Given the description of an element on the screen output the (x, y) to click on. 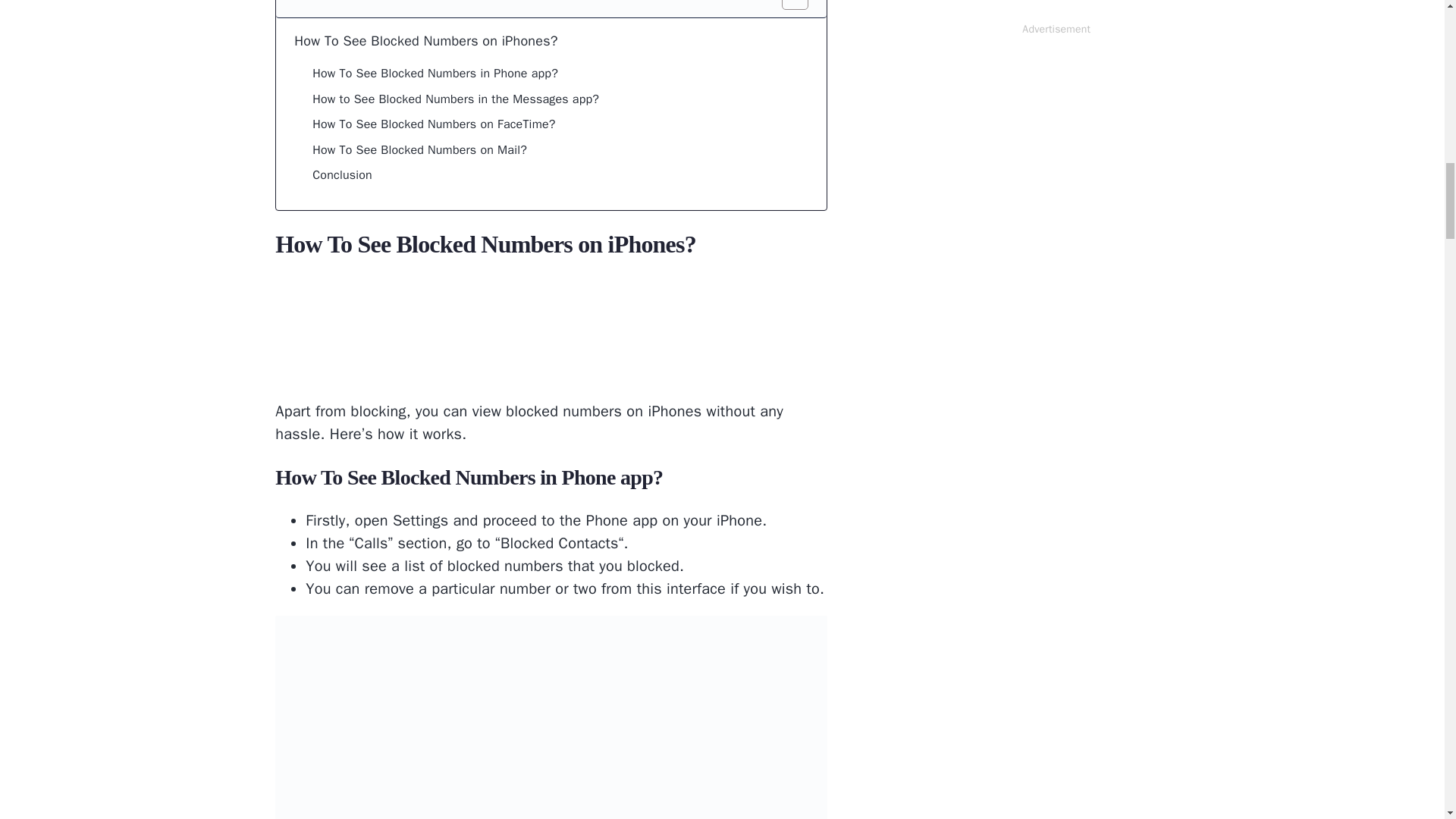
Conclusion (342, 175)
Conclusion (342, 175)
How To See Blocked Numbers on iPhones? (425, 41)
How To See Blocked Numbers in Phone app? (435, 74)
How to See Blocked Numbers in the Messages app? (455, 99)
How To See Blocked Numbers on FaceTime? (433, 125)
How To See Blocked Numbers on iPhones? (425, 41)
How To See Blocked Numbers on Mail? (420, 150)
How to See Blocked Numbers in the Messages app? (455, 99)
How To See Blocked Numbers on Mail? (420, 150)
How To See Blocked Numbers in Phone app? (435, 74)
How To See Blocked Numbers on FaceTime? (433, 125)
